Given the description of an element on the screen output the (x, y) to click on. 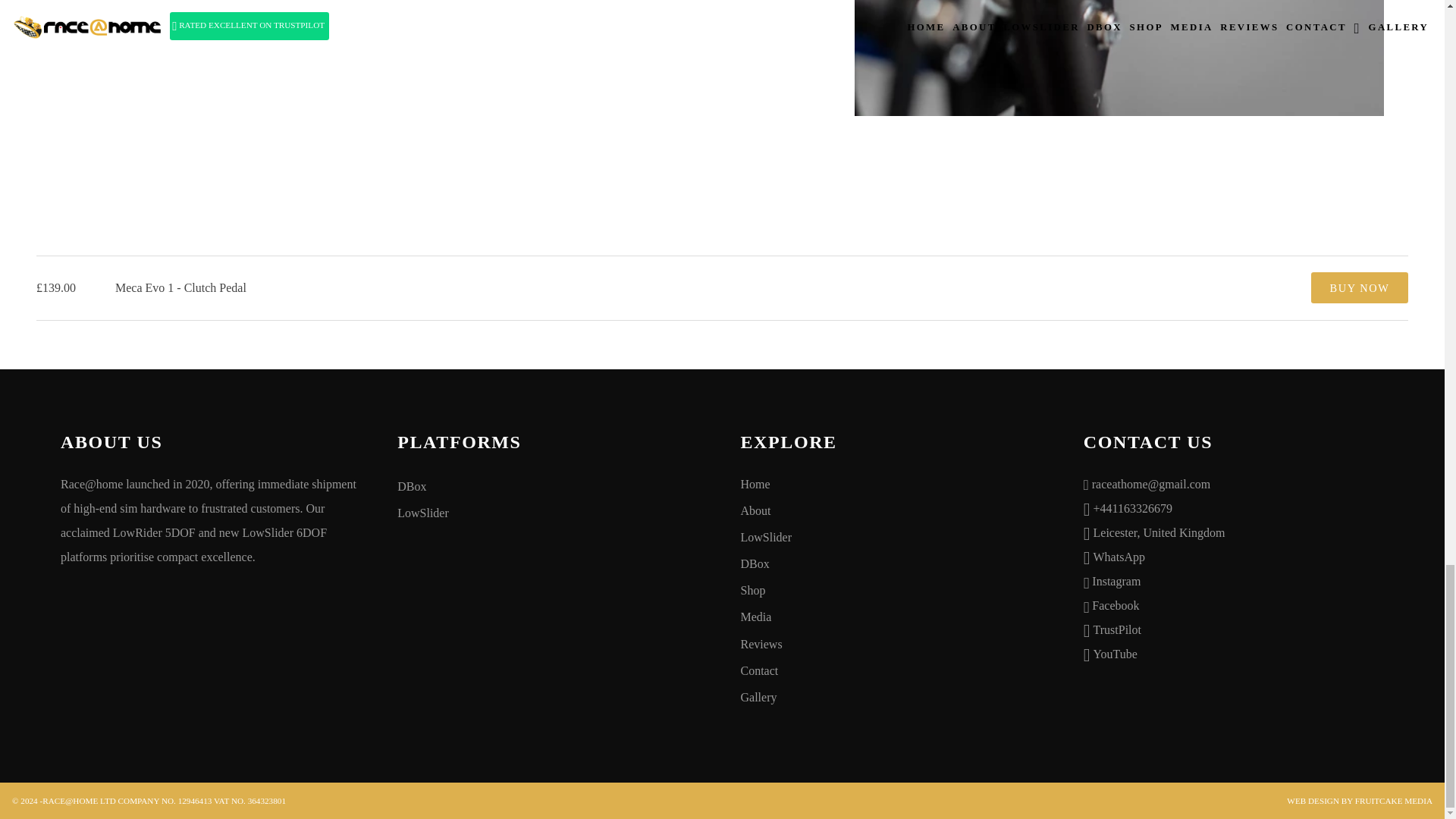
Call now (1132, 507)
Buy Now (1359, 287)
Home (892, 485)
TrustPilot (1117, 628)
DBox (550, 488)
Gallery (892, 697)
Send email (1150, 482)
LowSlider (550, 513)
DBox (892, 565)
Reviews (892, 645)
